Given the description of an element on the screen output the (x, y) to click on. 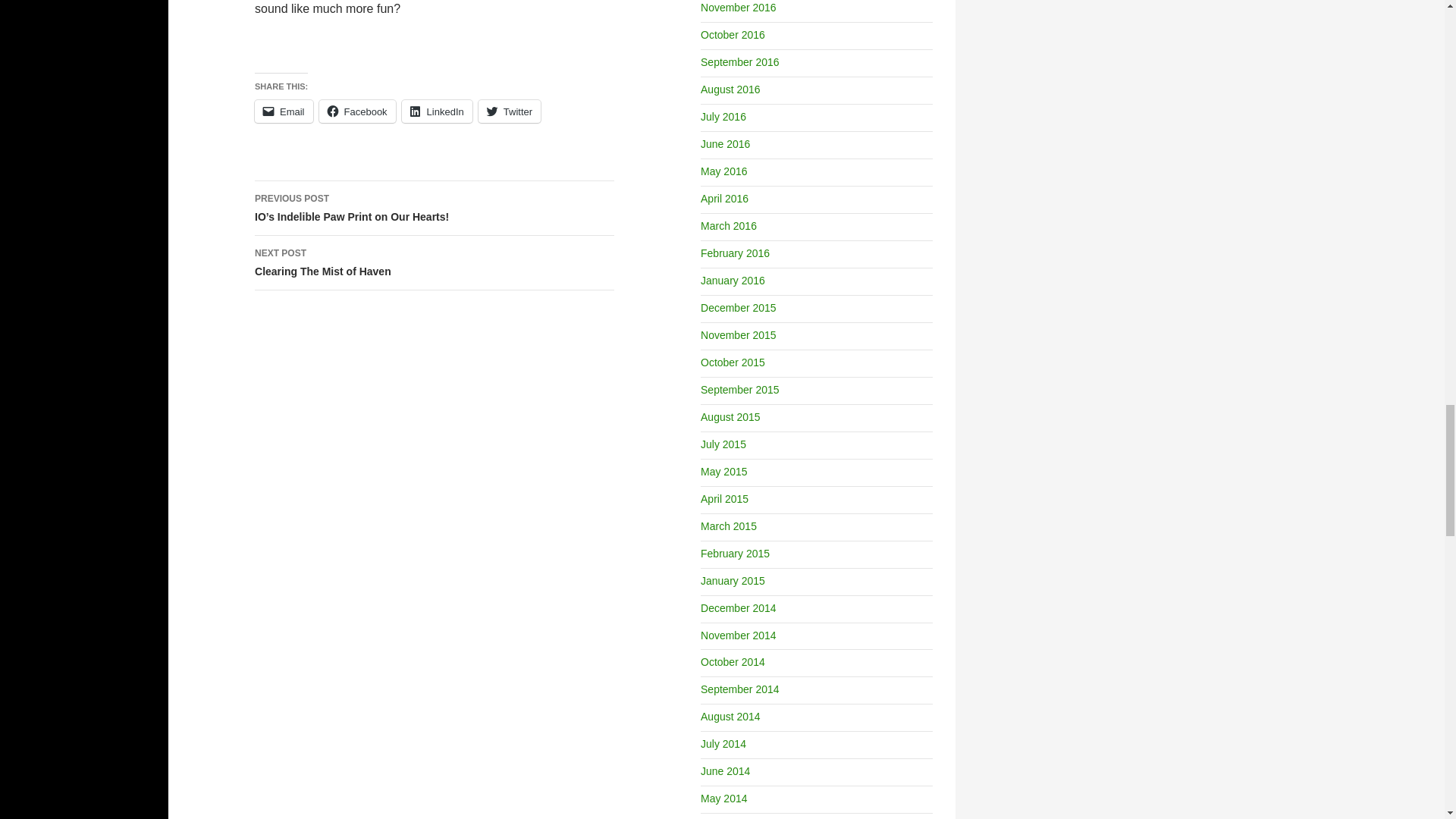
LinkedIn (434, 262)
Click to share on Facebook (436, 110)
Facebook (357, 110)
Click to share on LinkedIn (357, 110)
Click to email a link to a friend (436, 110)
Twitter (283, 110)
Email (509, 110)
Click to share on Twitter (283, 110)
